Given the description of an element on the screen output the (x, y) to click on. 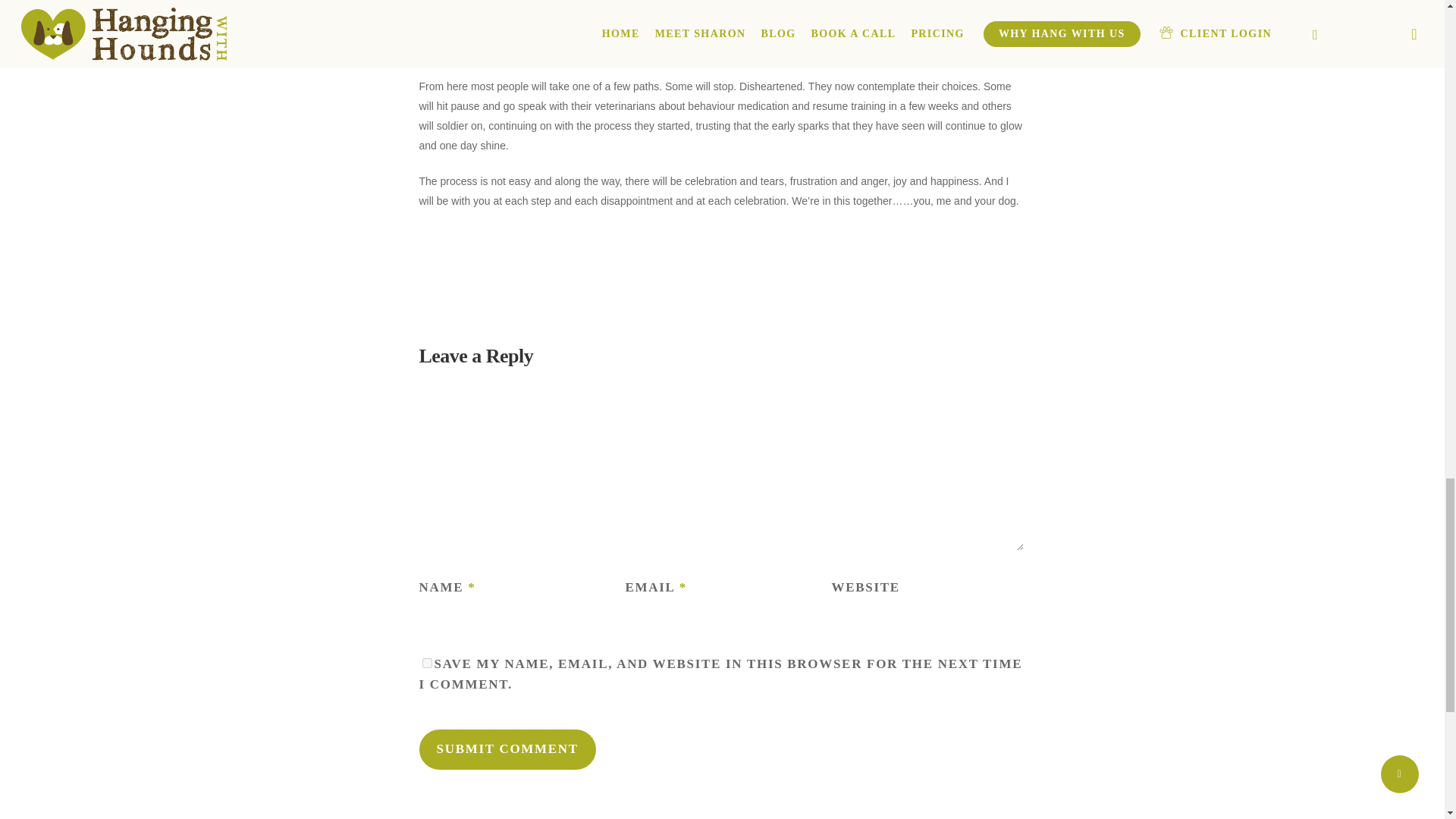
Submit Comment (507, 749)
Submit Comment (507, 749)
yes (426, 663)
